Given the description of an element on the screen output the (x, y) to click on. 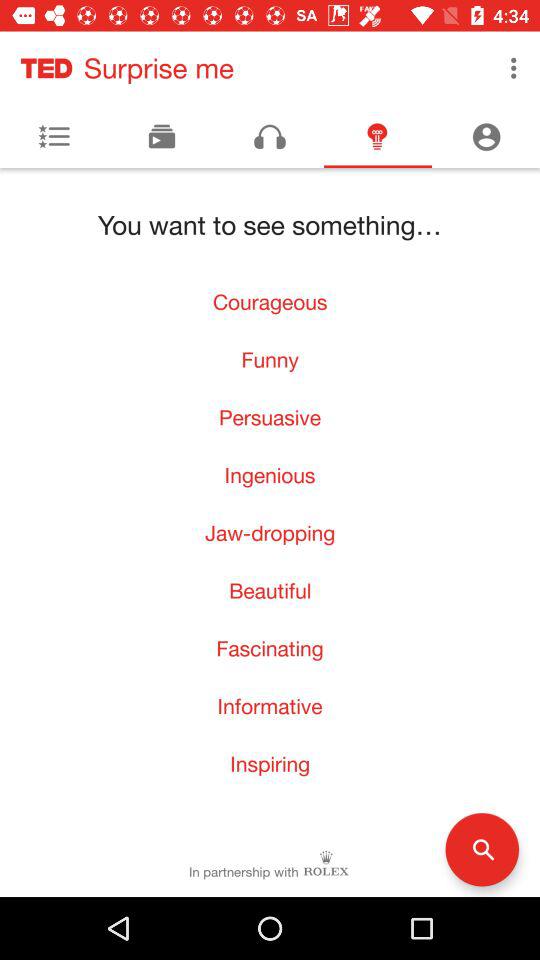
swipe until the jaw-dropping item (270, 532)
